Given the description of an element on the screen output the (x, y) to click on. 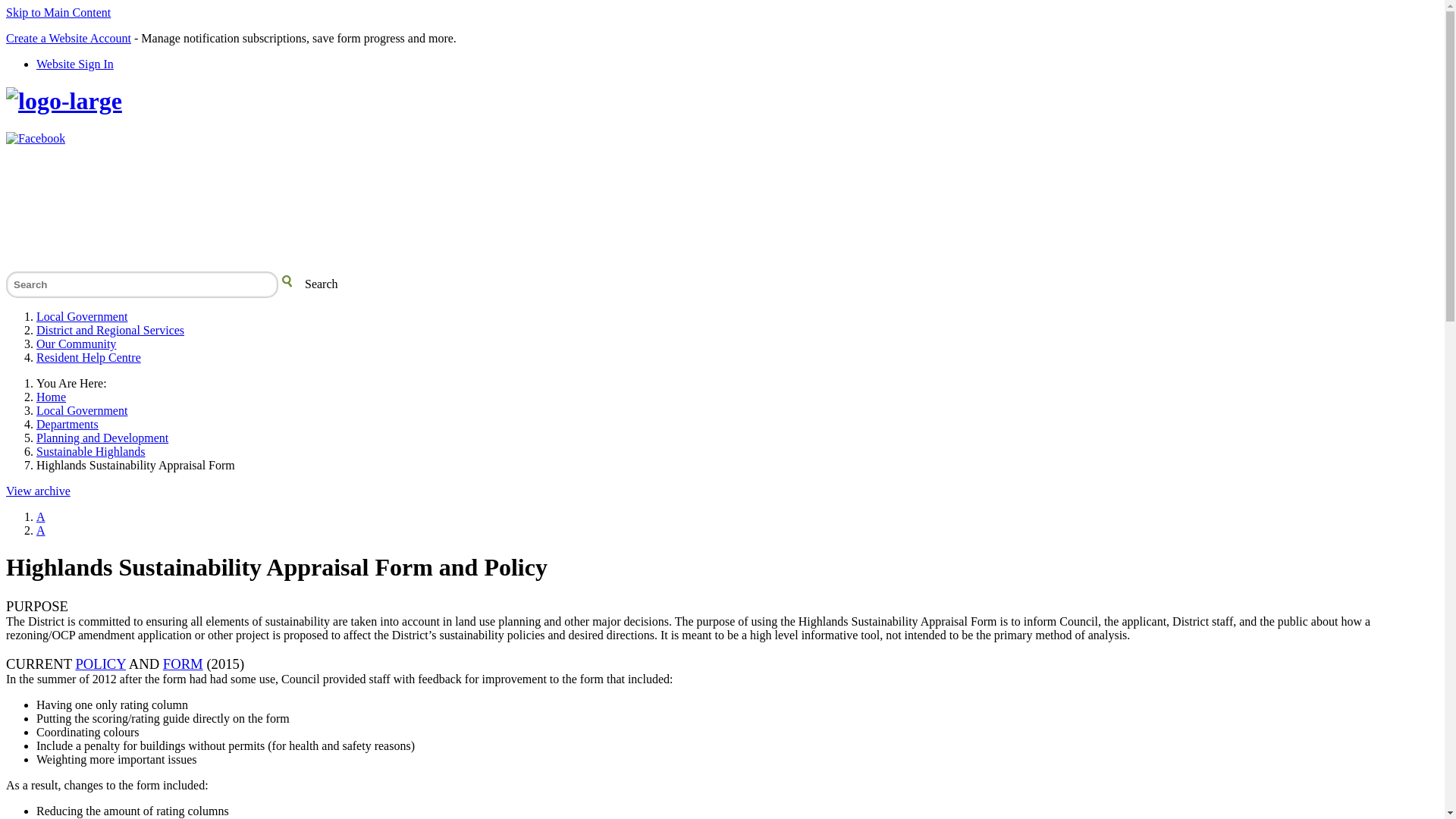
Search Element type: hover (142, 284)
Home Element type: text (50, 396)
Local Government Element type: text (81, 316)
District and Regional Services Element type: text (110, 329)
A Element type: text (40, 516)
Skip to Main Content Element type: text (58, 12)
Departments Element type: text (67, 423)
View archive Element type: text (38, 490)
Planning and Development Element type: text (102, 437)
Create a Website Account Element type: text (68, 37)
Sustainable Highlands Element type: text (90, 451)
Our Community Element type: text (76, 343)
Resident Help Centre Element type: text (88, 357)
Website Sign In Element type: text (74, 63)
POLICY Element type: text (100, 663)
FORM Element type: text (183, 663)
A Element type: text (40, 530)
Local Government Element type: text (81, 410)
